Given the description of an element on the screen output the (x, y) to click on. 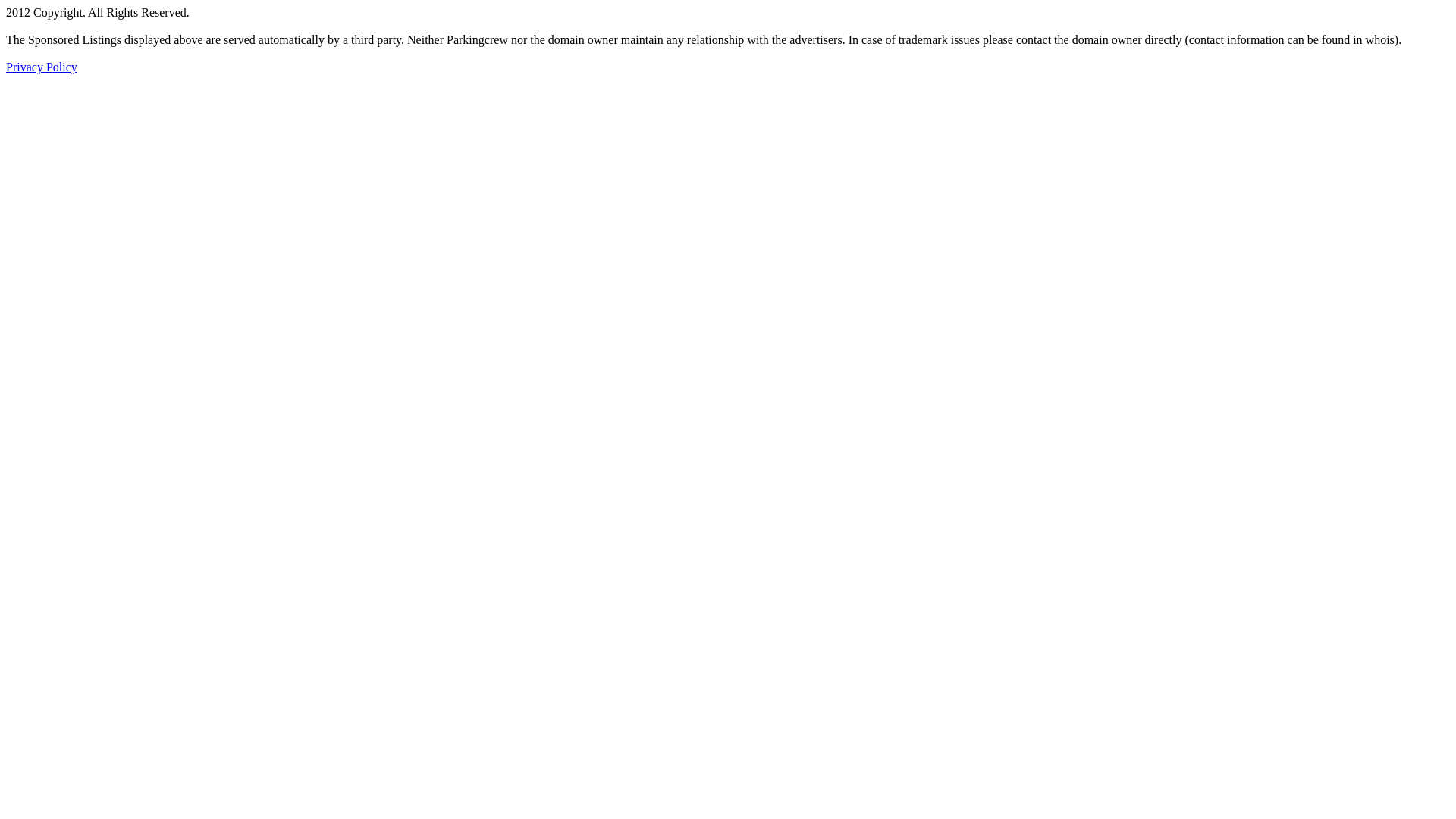
Privacy Policy Element type: text (41, 66)
